Given the description of an element on the screen output the (x, y) to click on. 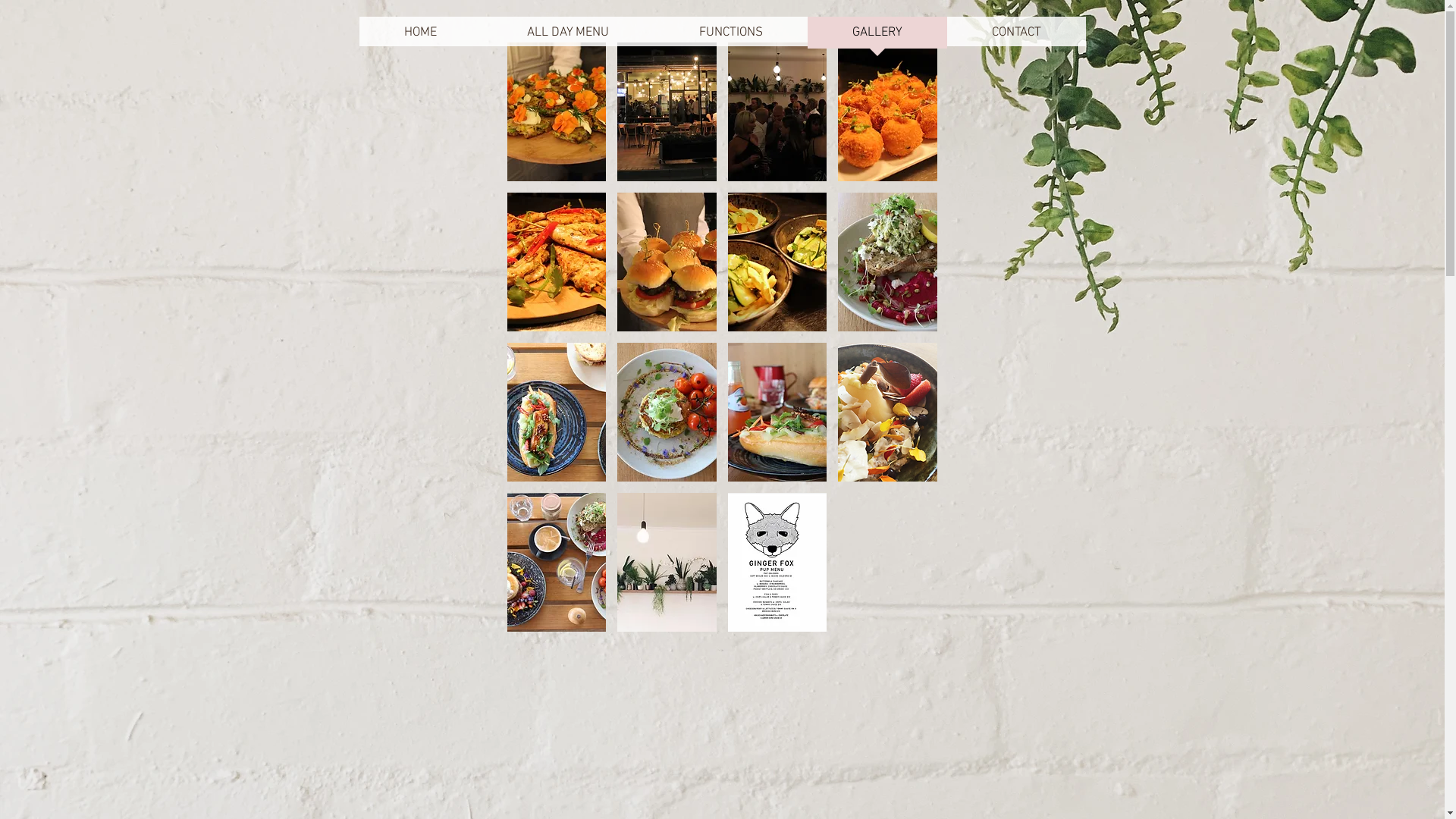
GALLERY Element type: text (876, 37)
HOME Element type: text (420, 37)
FUNCTIONS Element type: text (729, 37)
ALL DAY MENU Element type: text (568, 37)
CONTACT Element type: text (1015, 37)
